Given the description of an element on the screen output the (x, y) to click on. 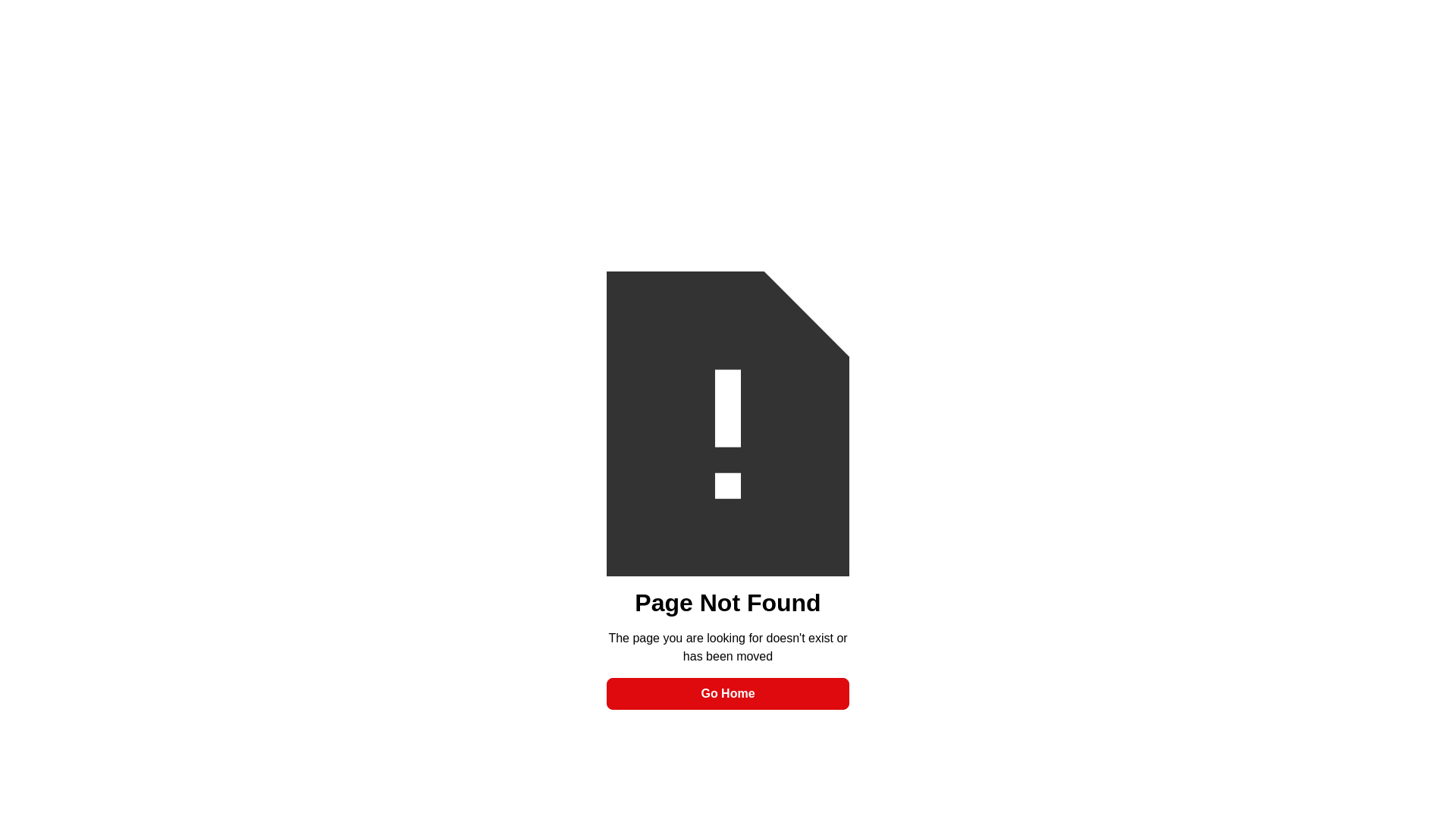
Go Home (727, 694)
